Given the description of an element on the screen output the (x, y) to click on. 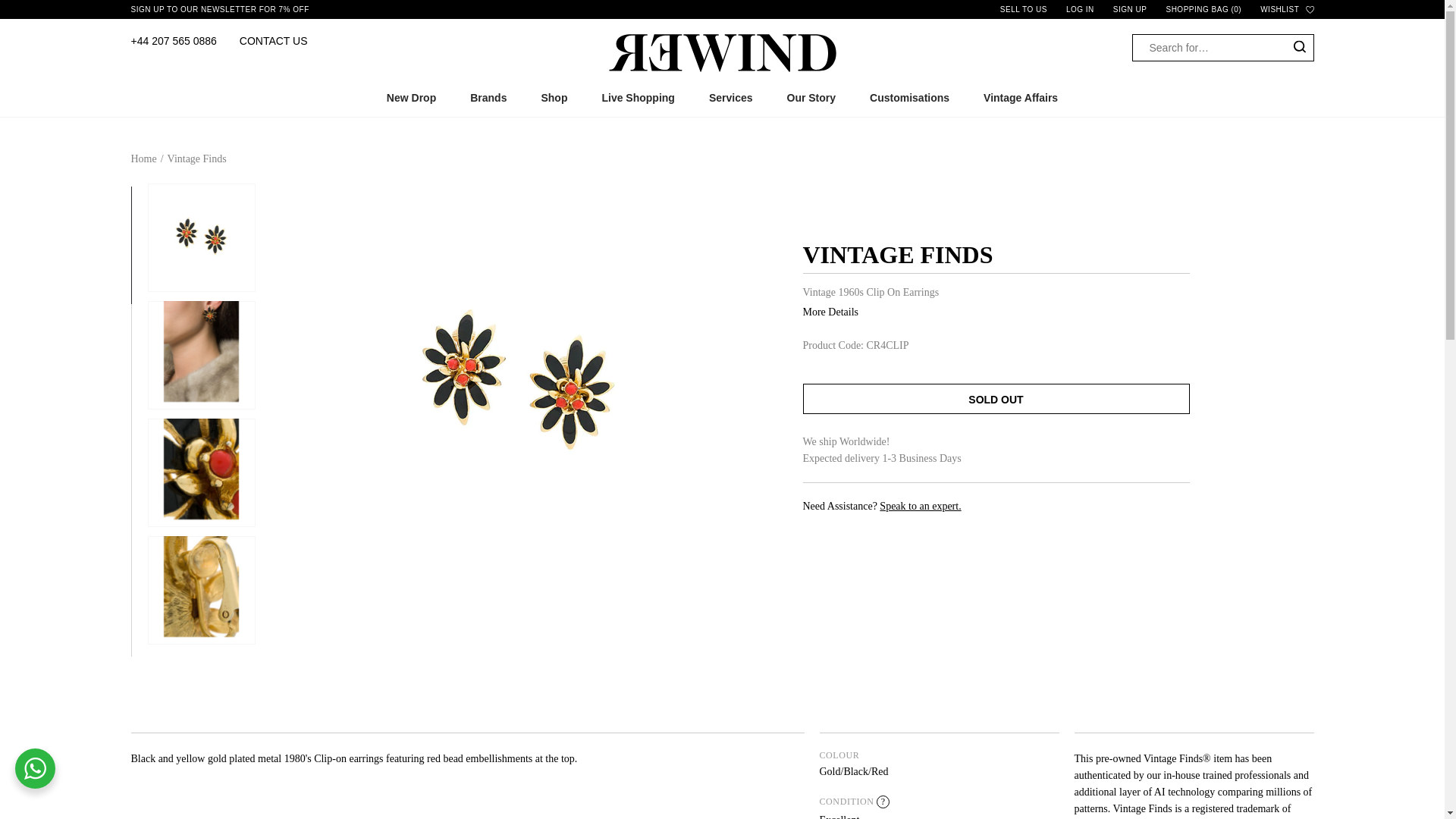
Generated with Avocode.Path 152 (1300, 46)
SKIP TO CONTENT (67, 14)
WISHLIST GENERATED WITH AVOCODE.HEART-LINE (1286, 9)
SIGN UP (1130, 9)
GENERATED WITH AVOCODE.HEART-LINE (1310, 9)
SELL TO US (1023, 9)
LOG IN (1079, 9)
Back to the frontpage (143, 158)
